Given the description of an element on the screen output the (x, y) to click on. 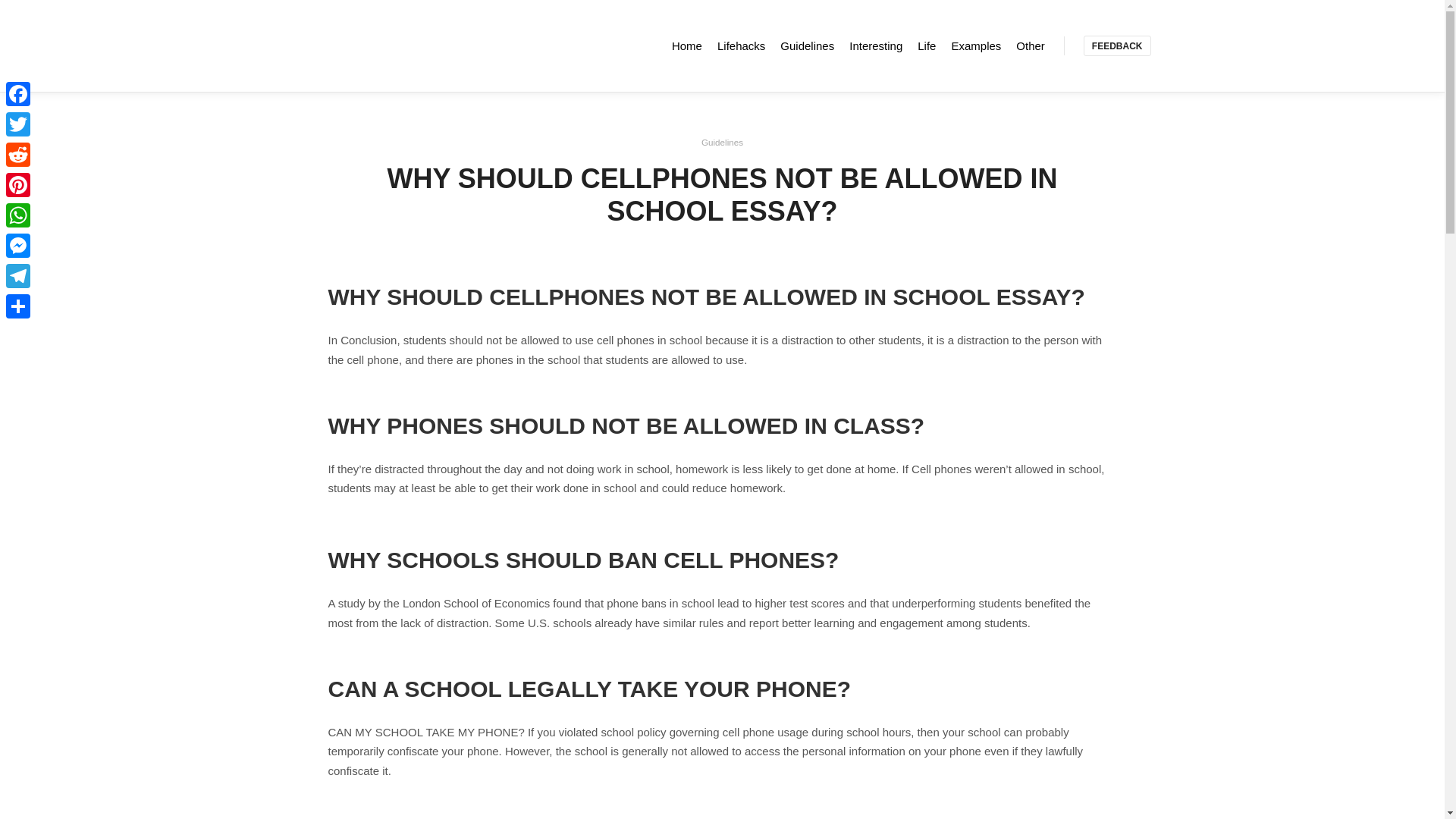
WhatsApp (17, 214)
Kembrel.com (357, 45)
Telegram (17, 276)
Reddit (17, 154)
Messenger (17, 245)
FEEDBACK (1117, 46)
Guidelines (721, 142)
WhatsApp (17, 214)
Twitter (17, 123)
Facebook (17, 93)
